Given the description of an element on the screen output the (x, y) to click on. 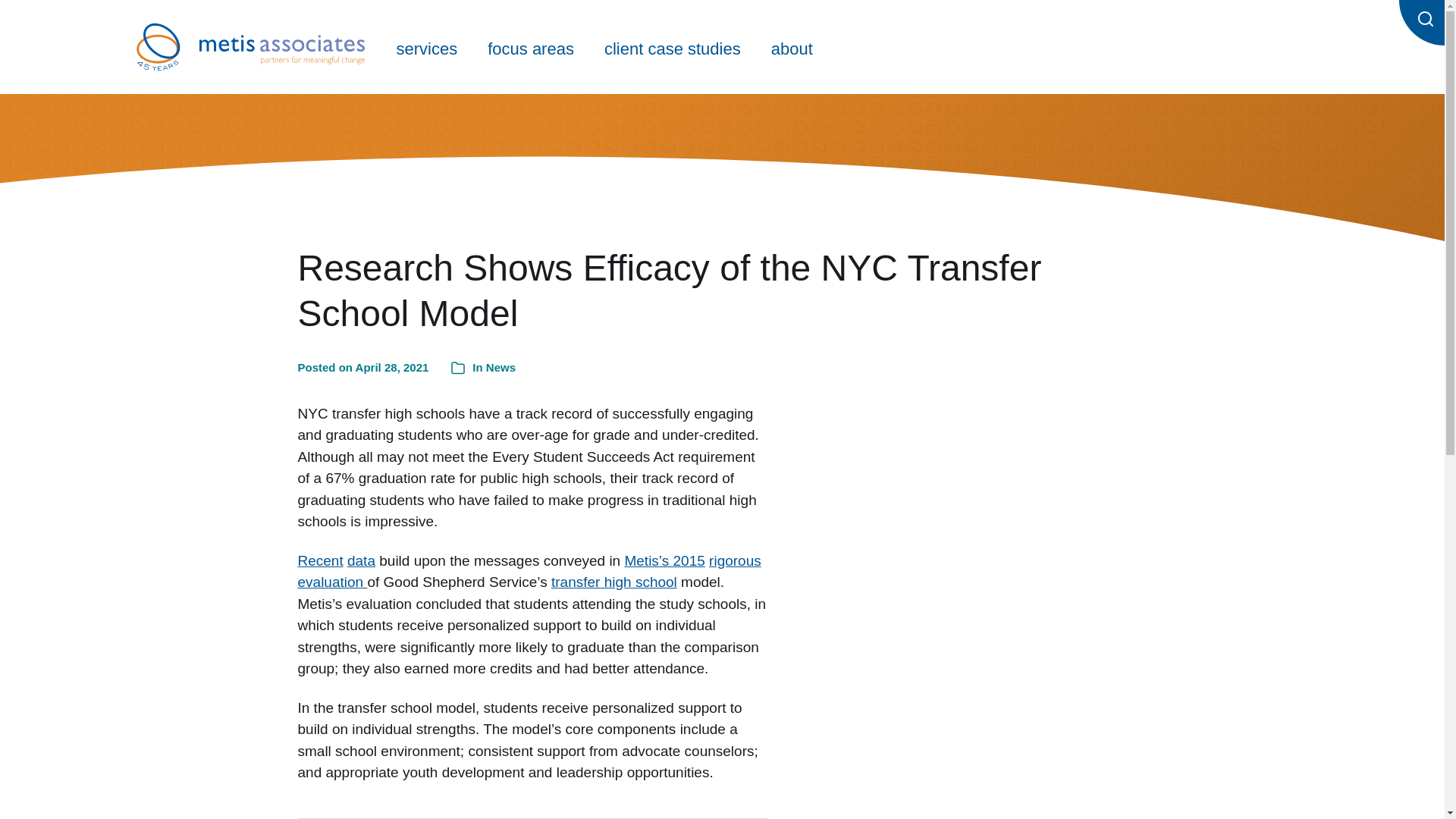
services (425, 47)
Recent (319, 560)
data (361, 560)
News (500, 367)
focus areas (530, 47)
client case studies (672, 47)
Posted on April 28, 2021 (362, 367)
